Given the description of an element on the screen output the (x, y) to click on. 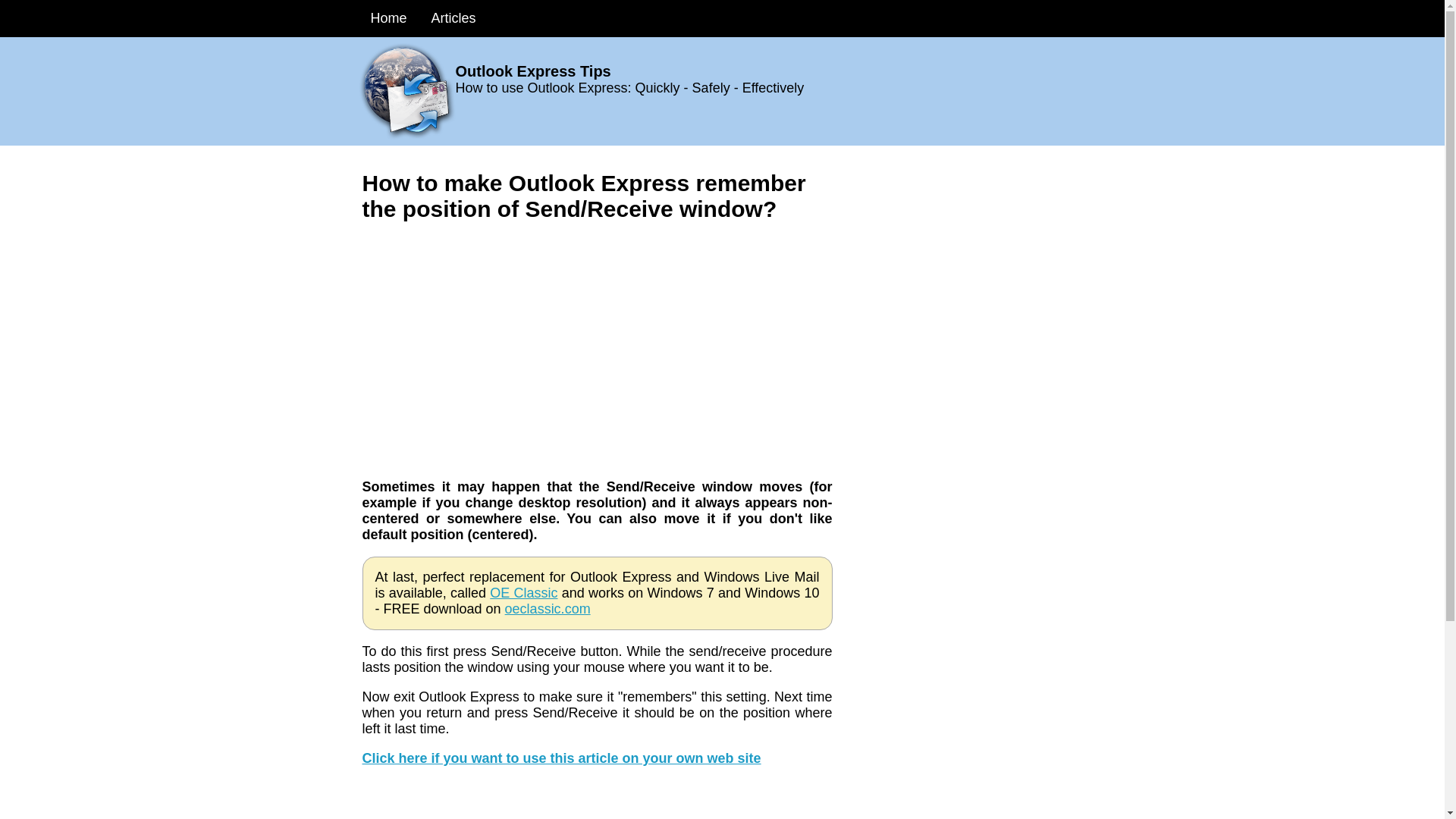
oeclassic.com (548, 608)
OE Classic (523, 592)
Articles (453, 18)
Advertisement (969, 382)
Advertisement (597, 799)
Advertisement (597, 343)
Home (388, 18)
